Given the description of an element on the screen output the (x, y) to click on. 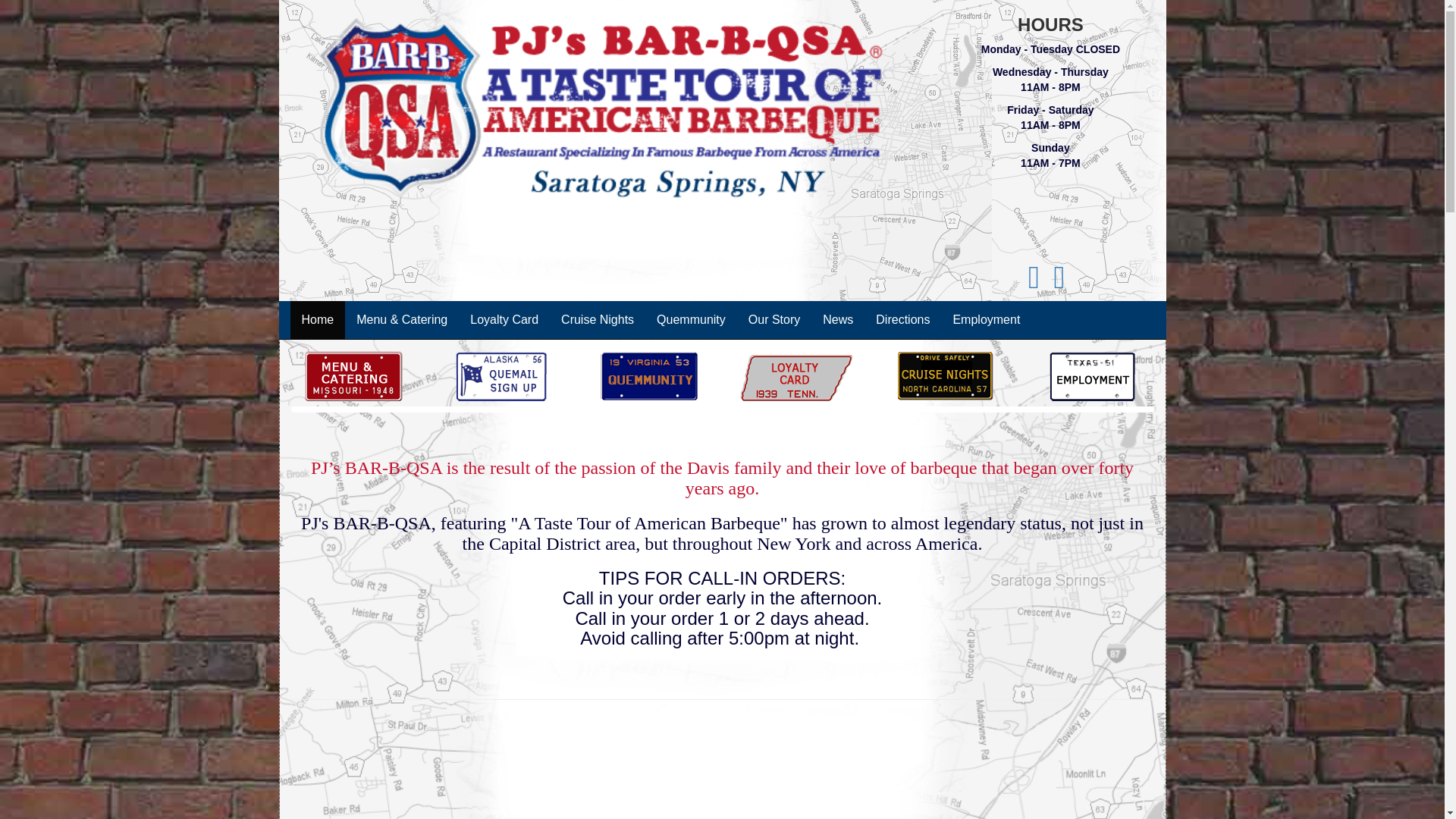
Our Story (773, 320)
News (837, 320)
Cruise Nights (597, 320)
Employment (985, 320)
Loyalty Card (504, 320)
Quemmunity (690, 320)
Directions (902, 320)
Home (317, 320)
